Given the description of an element on the screen output the (x, y) to click on. 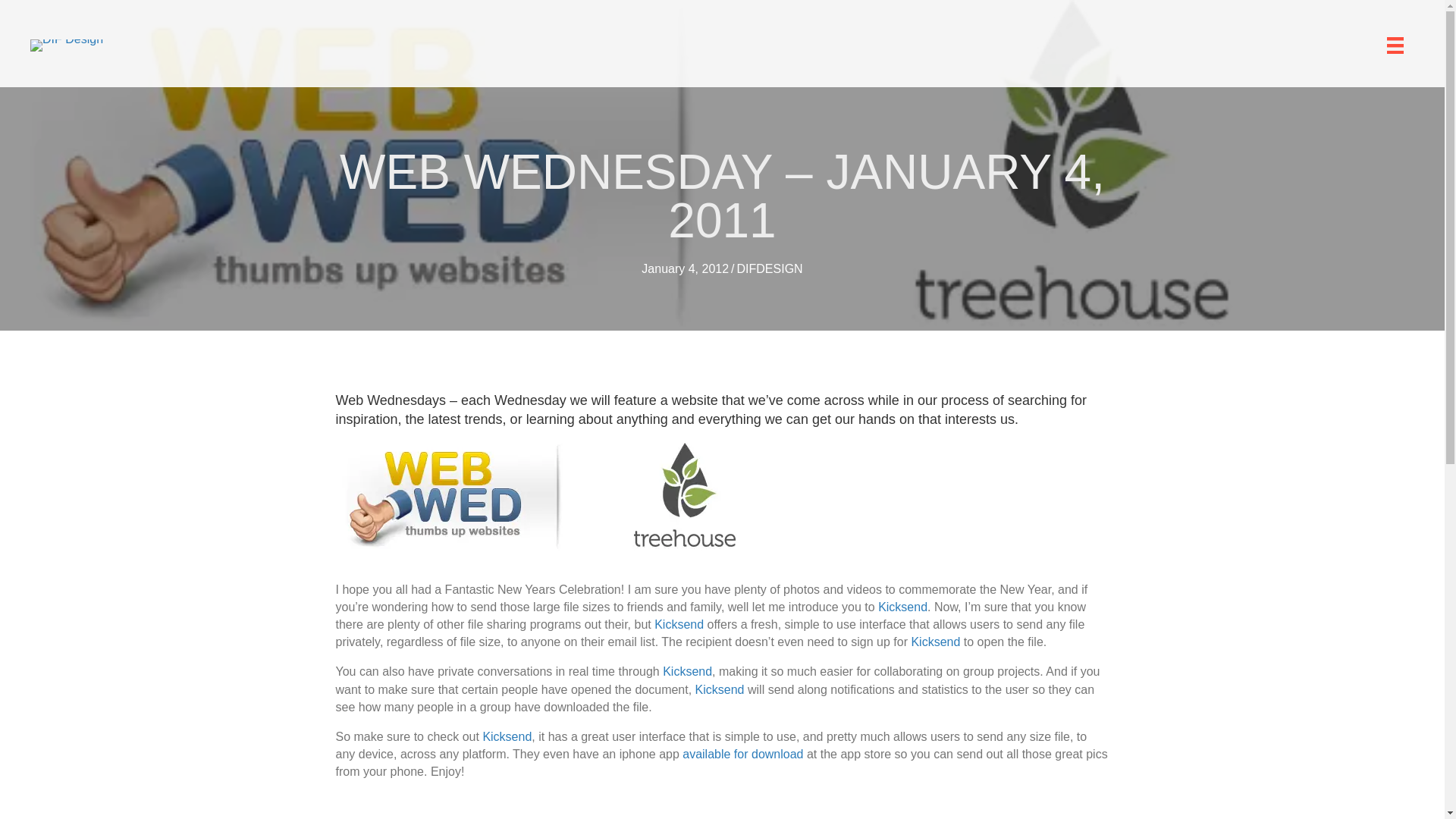
available for download (742, 753)
Kicksend (935, 641)
Kicksend App (742, 753)
Kicksend (902, 606)
Kicksend (719, 688)
Kicksend (902, 606)
Kicksend (678, 624)
Kicksend (719, 688)
Kicksend (678, 624)
Kicksend (686, 671)
DIFDESIGN (769, 268)
Kicksend (506, 736)
Kicksend (935, 641)
Kicksend (686, 671)
dif-design-logo (66, 45)
